Given the description of an element on the screen output the (x, y) to click on. 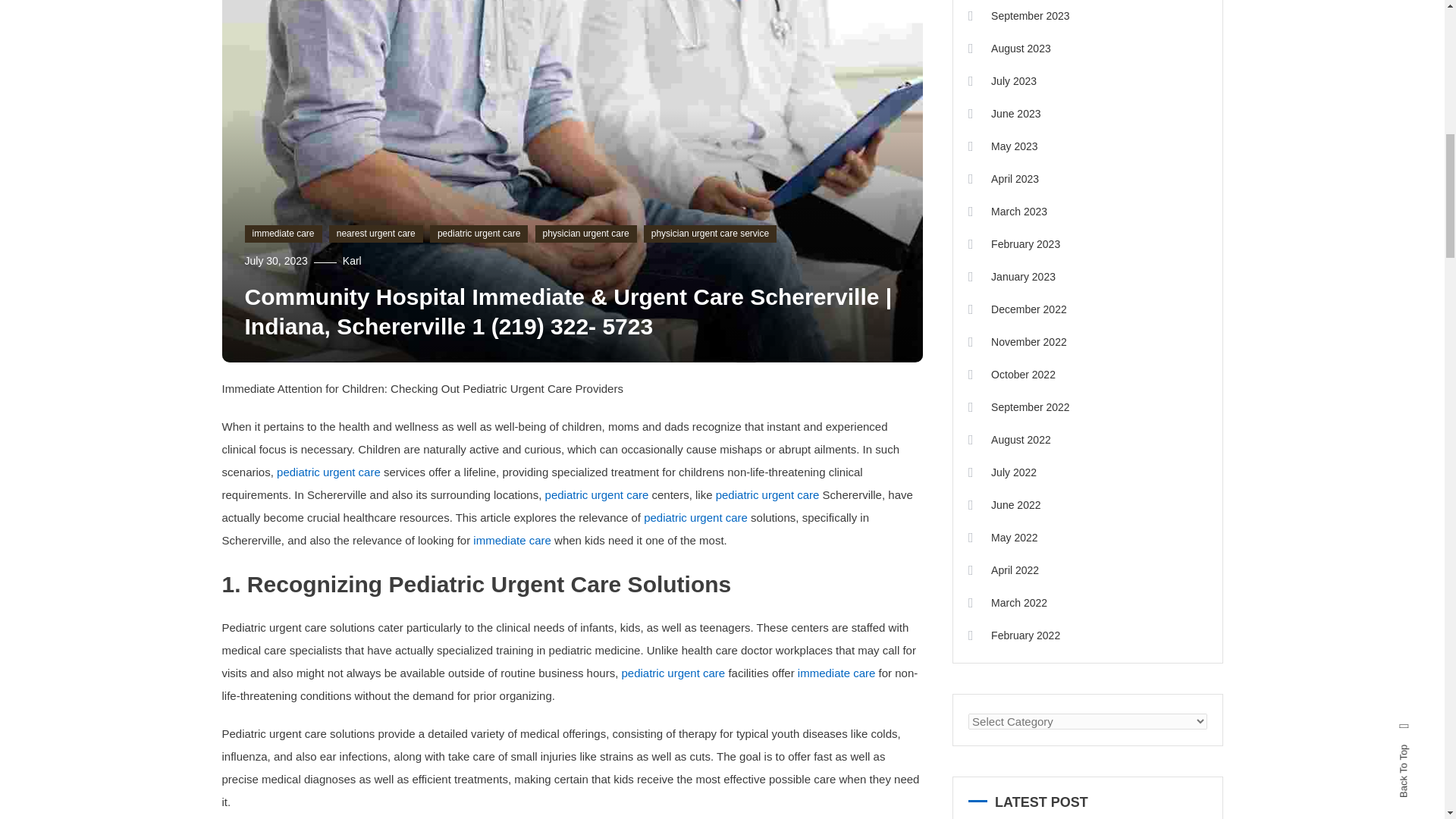
pediatric urgent care (478, 234)
nearest urgent care (376, 234)
immediate care (282, 234)
